Given the description of an element on the screen output the (x, y) to click on. 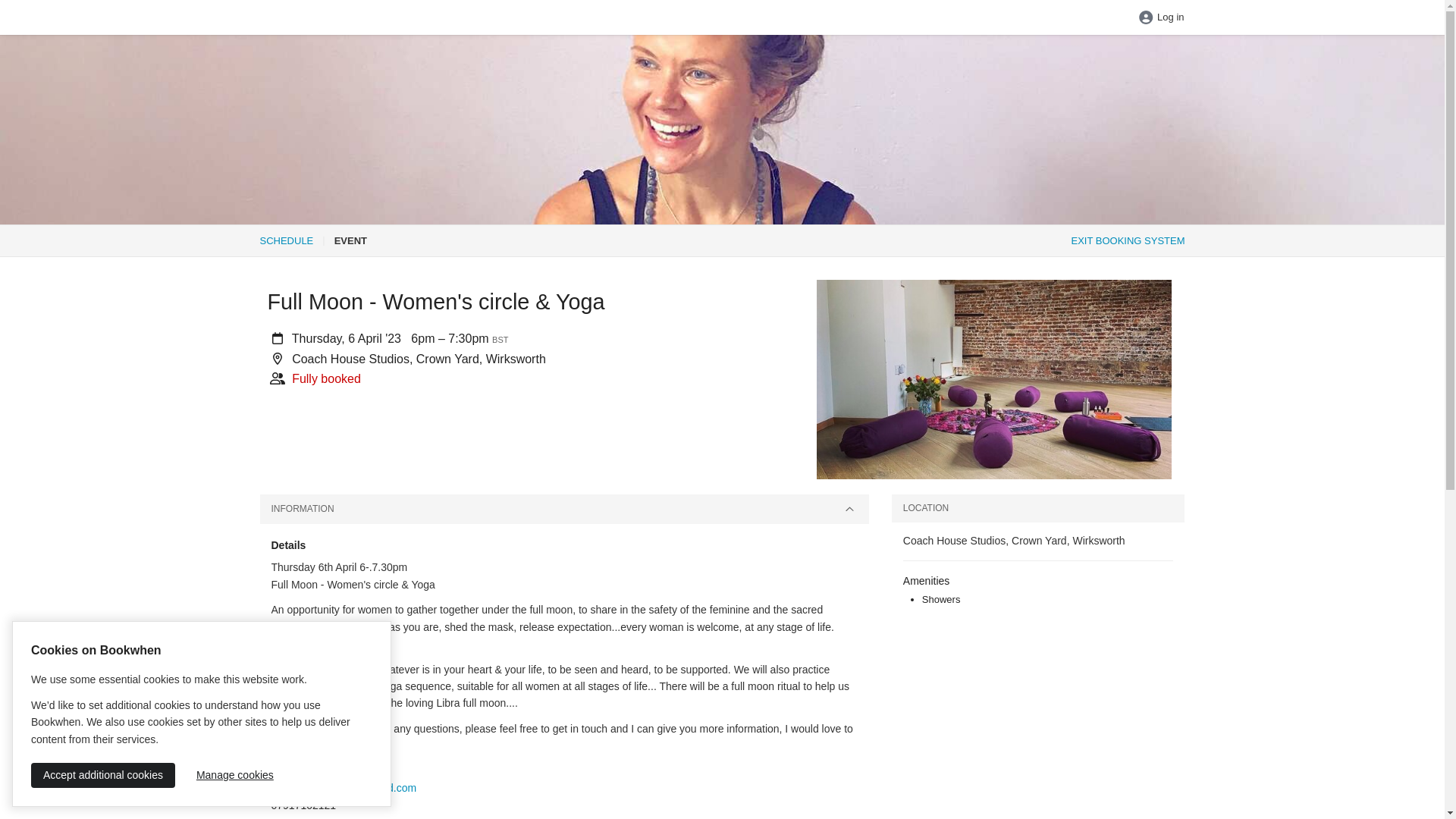
EXIT BOOKING SYSTEM (1127, 240)
EVENT (350, 240)
Accept additional cookies (102, 774)
SCHEDULE (286, 240)
Log in (1160, 17)
Manage cookies (234, 774)
INFORMATION (563, 509)
